Given the description of an element on the screen output the (x, y) to click on. 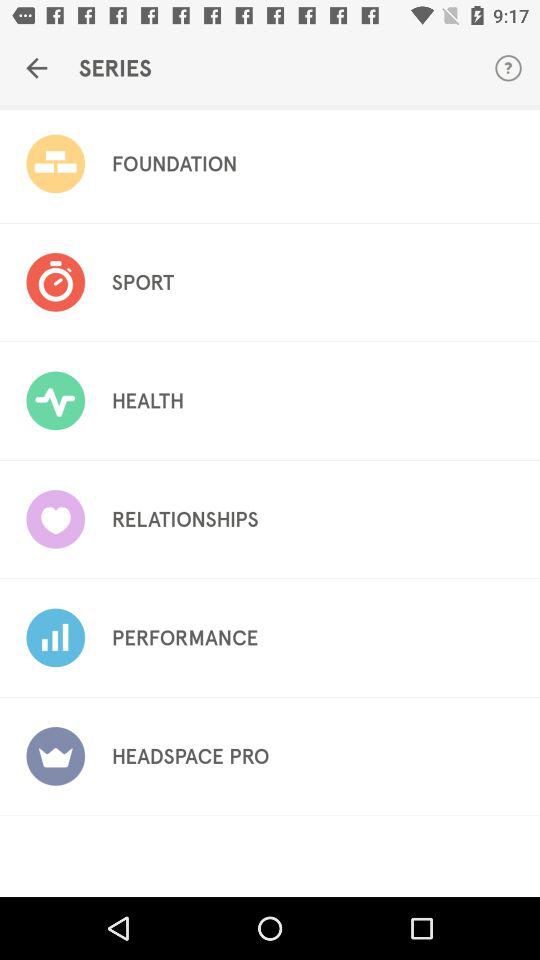
flip until the relationships item (184, 519)
